Given the description of an element on the screen output the (x, y) to click on. 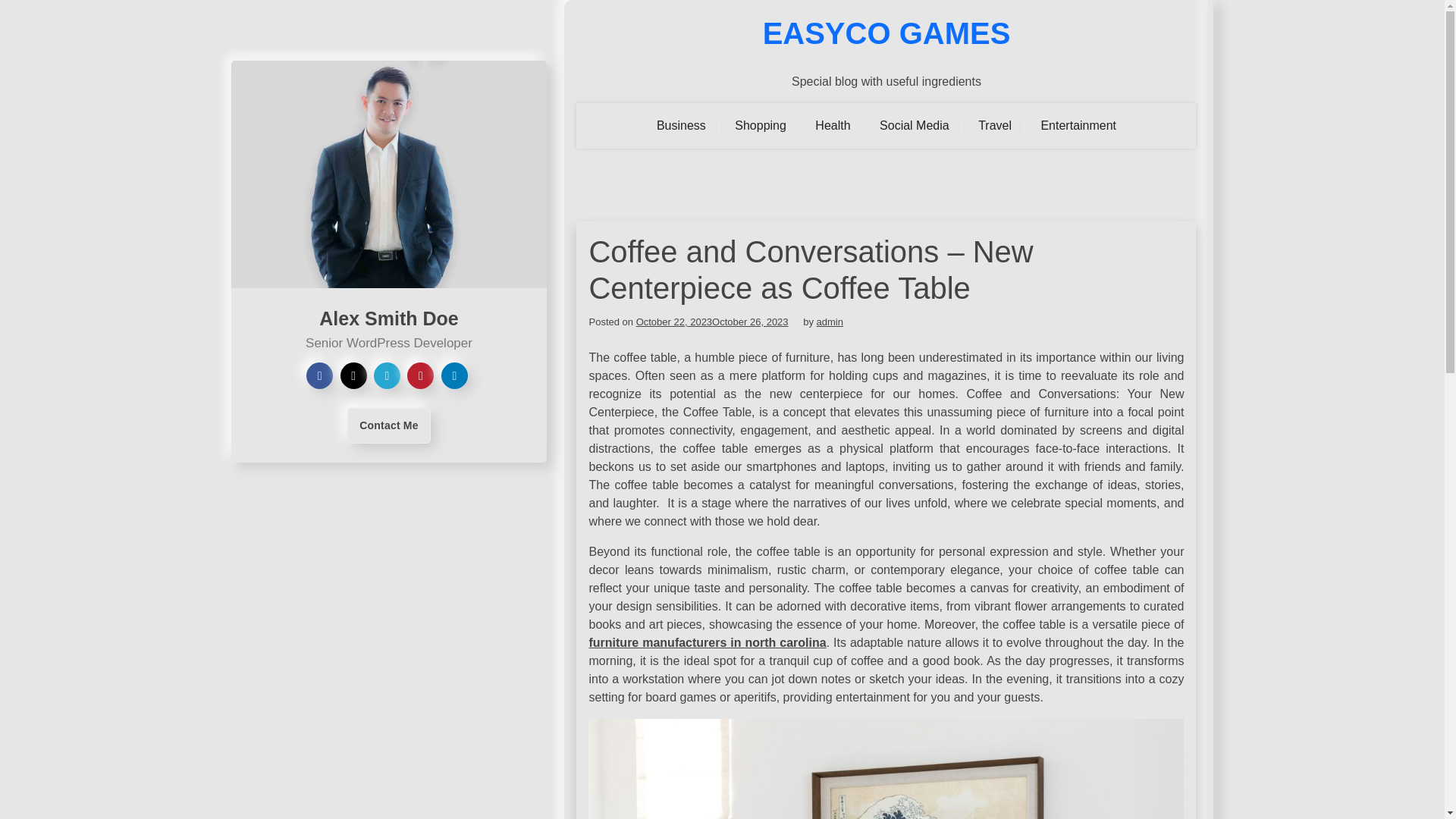
furniture manufacturers in north carolina (706, 642)
Social Media (913, 125)
Travel (994, 125)
Entertainment (1077, 125)
October 22, 2023October 26, 2023 (712, 321)
Shopping (760, 125)
Contact Me (388, 425)
EASYCO GAMES (886, 33)
Business (681, 125)
Health (832, 125)
